Given the description of an element on the screen output the (x, y) to click on. 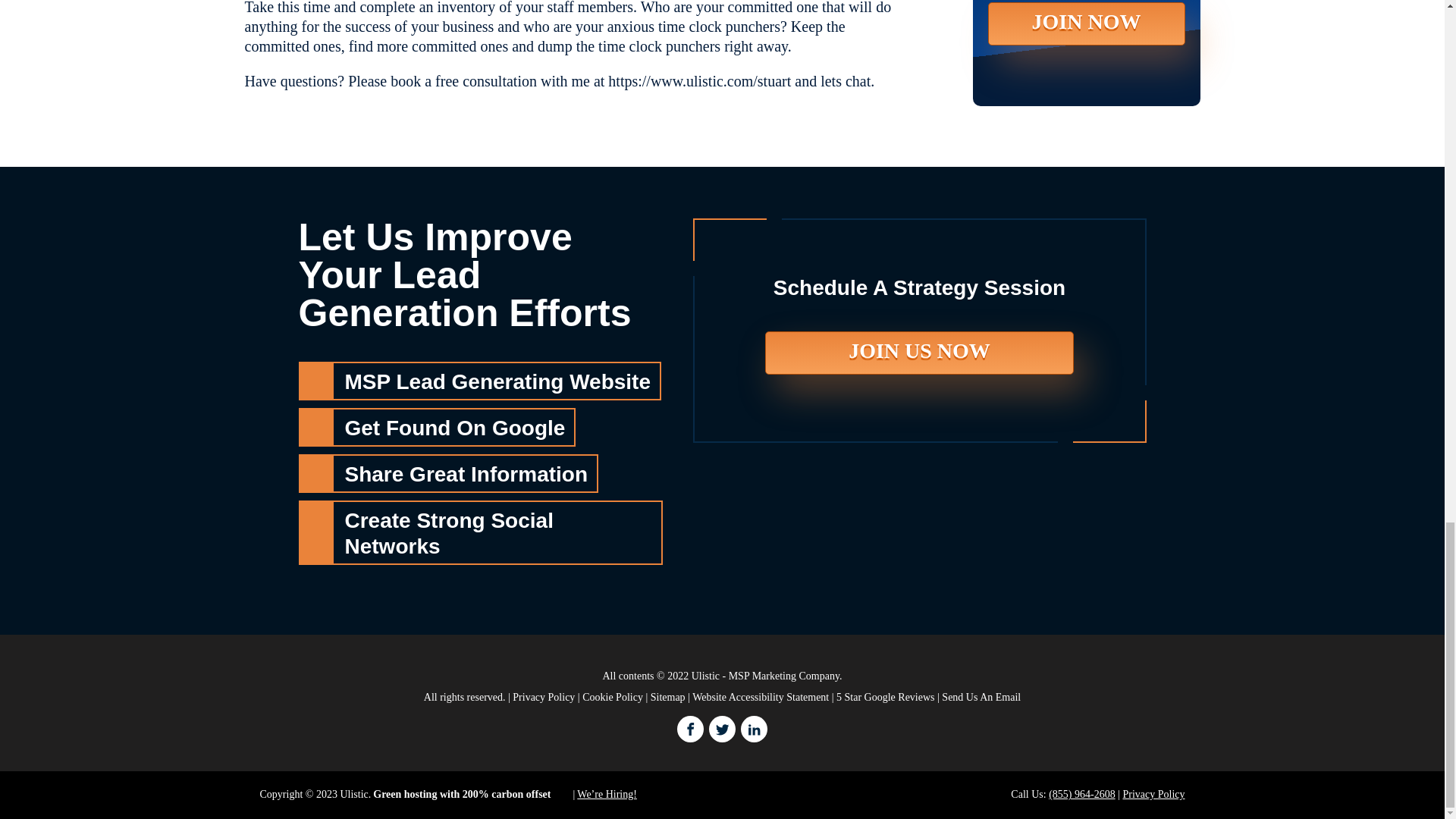
5 Star Google Reviews (884, 696)
Website Accessibility Statement (760, 696)
Privacy Policy (543, 696)
Sitemap (667, 696)
Cookie Policy (612, 696)
Send Us An Email (981, 696)
JOIN US NOW (919, 352)
Privacy Policy (1153, 794)
